Given the description of an element on the screen output the (x, y) to click on. 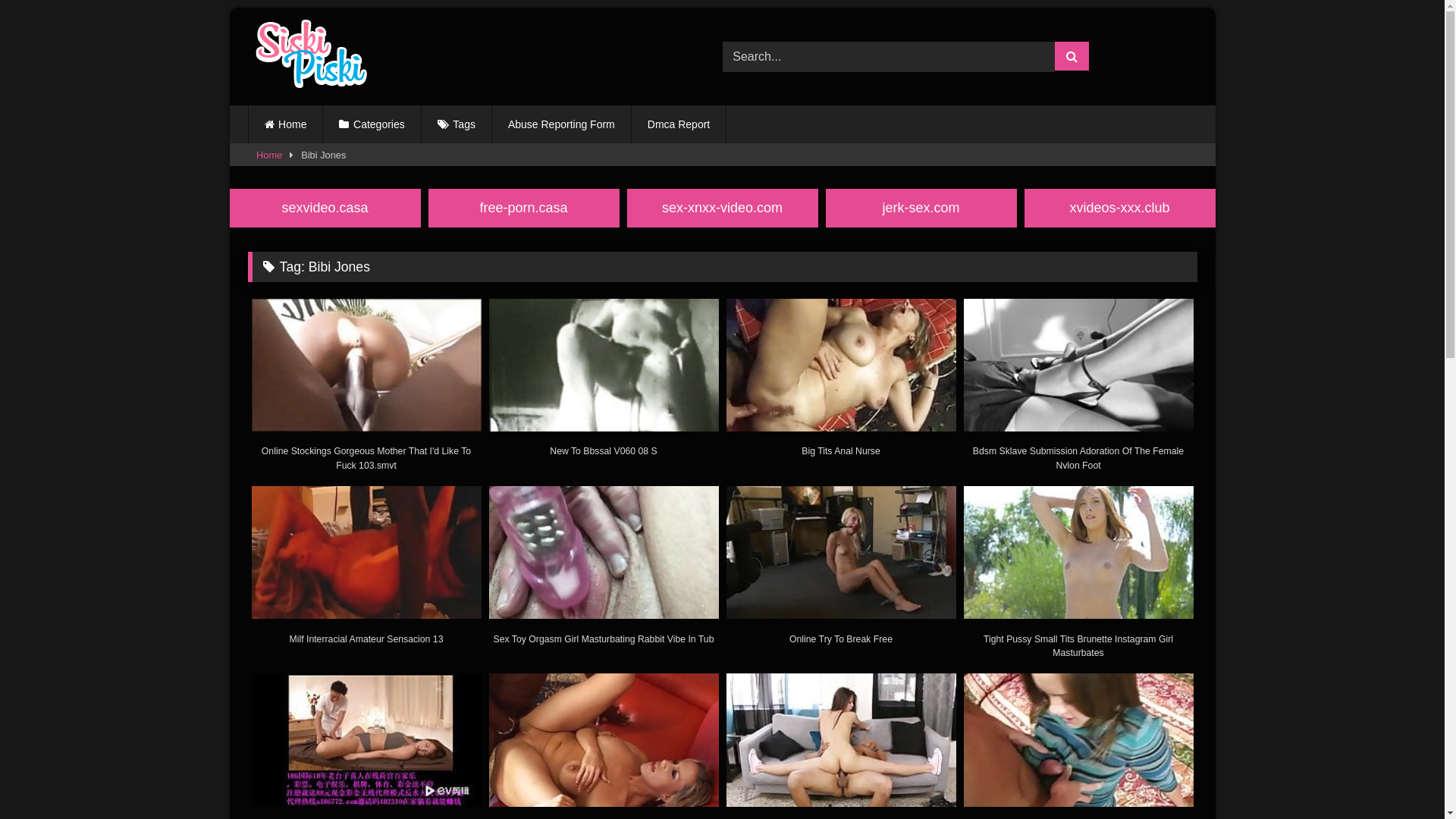
Online Try To Break Free Element type: text (841, 571)
Skip to content Element type: text (229, 7)
jerk-sex.com Element type: text (920, 207)
Home Element type: text (269, 155)
sex-xnxx-video.com Element type: text (721, 207)
Home Element type: text (285, 124)
Porn Xnxx Sex Xvideos XXX Pornhub Xhamster Redtube Element type: hover (306, 56)
Categories Element type: text (371, 124)
Tight Pussy Small Tits Brunette Instagram Girl Masturbates Element type: text (1077, 571)
xvideos-xxx.club Element type: text (1118, 207)
Sex Toy Orgasm Girl Masturbating Rabbit Vibe In Tub Element type: text (603, 571)
Milf Interracial Amateur Sensacion 13 Element type: text (366, 571)
Big Tits Anal Nurse Element type: text (841, 383)
Bdsm Sklave Submission Adoration Of The Female Nylon Foot Element type: text (1077, 383)
sexvideo.casa Element type: text (324, 207)
Tags Element type: text (456, 124)
New To Bbssal V060 08 S Element type: text (603, 383)
Abuse Reporting Form Element type: text (561, 124)
free-porn.casa Element type: text (522, 207)
Dmca Report Element type: text (678, 124)
